Given the description of an element on the screen output the (x, y) to click on. 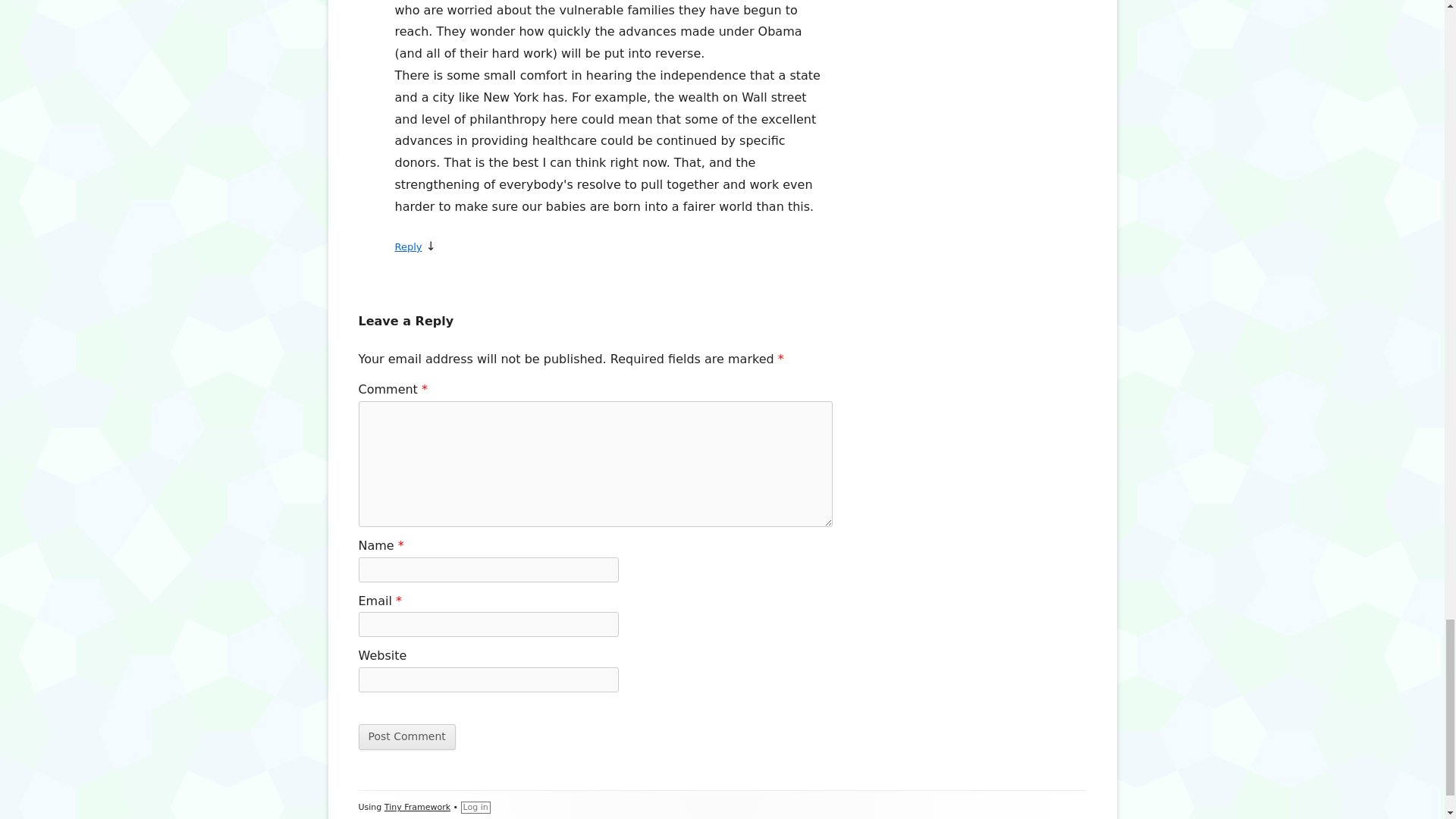
Post Comment (406, 736)
Reply (408, 246)
Post Comment (406, 736)
